Given the description of an element on the screen output the (x, y) to click on. 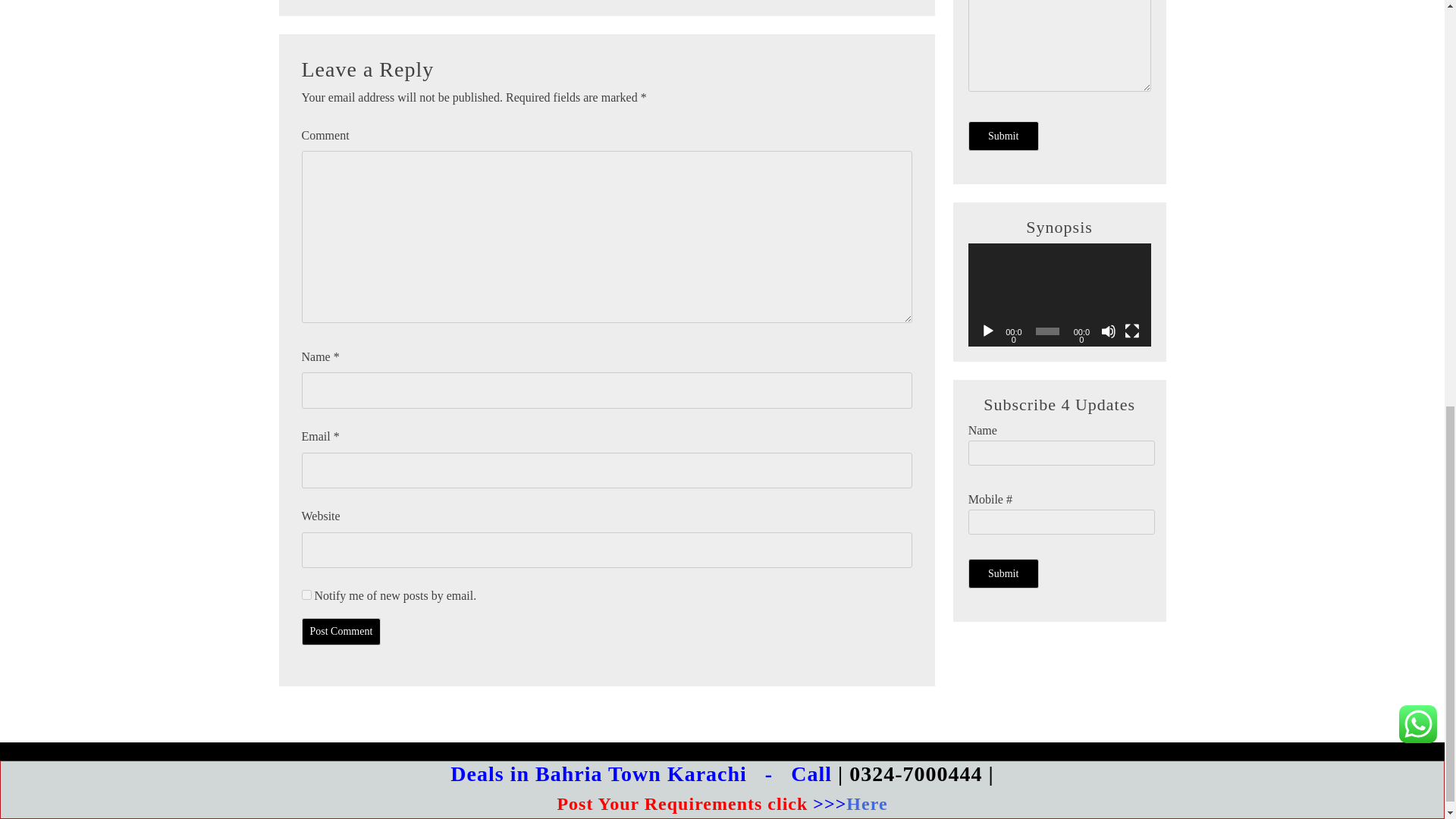
Mute (1108, 331)
Submit (1003, 573)
Submit (1003, 135)
Fullscreen (1132, 331)
Submit (1003, 135)
Play (987, 331)
Post Comment (341, 631)
Post Comment (341, 631)
Pak Properties (741, 774)
Submit (1003, 573)
subscribe (306, 594)
